Given the description of an element on the screen output the (x, y) to click on. 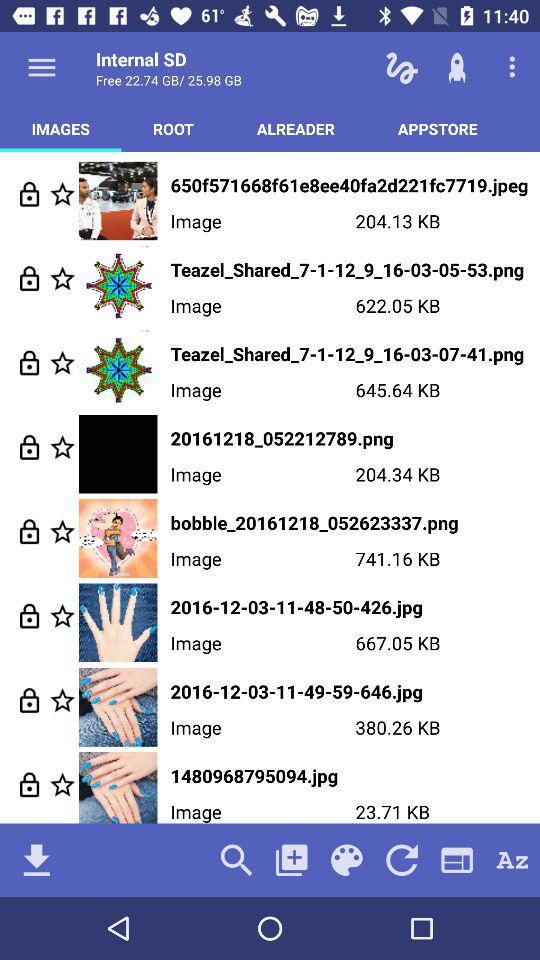
favorite image (62, 700)
